Given the description of an element on the screen output the (x, y) to click on. 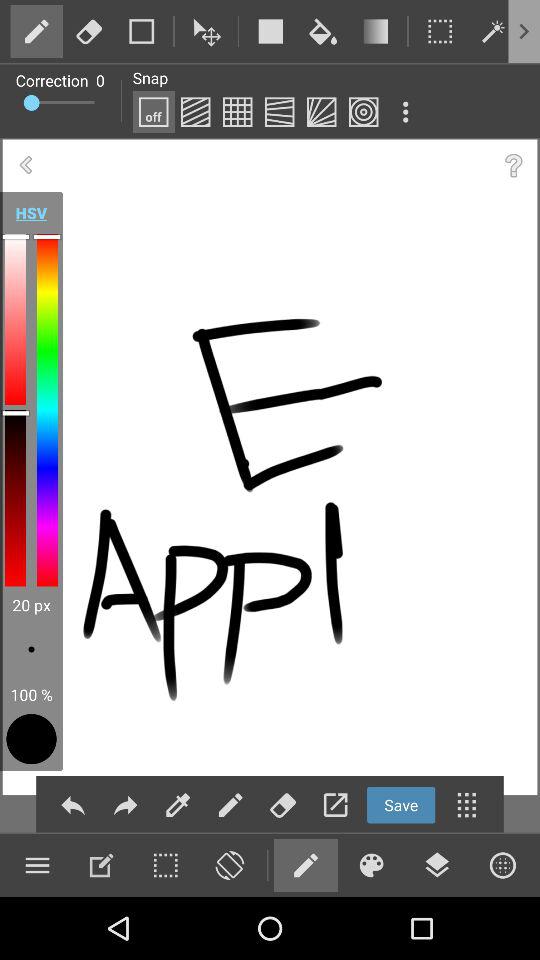
erase the letter (282, 804)
